Given the description of an element on the screen output the (x, y) to click on. 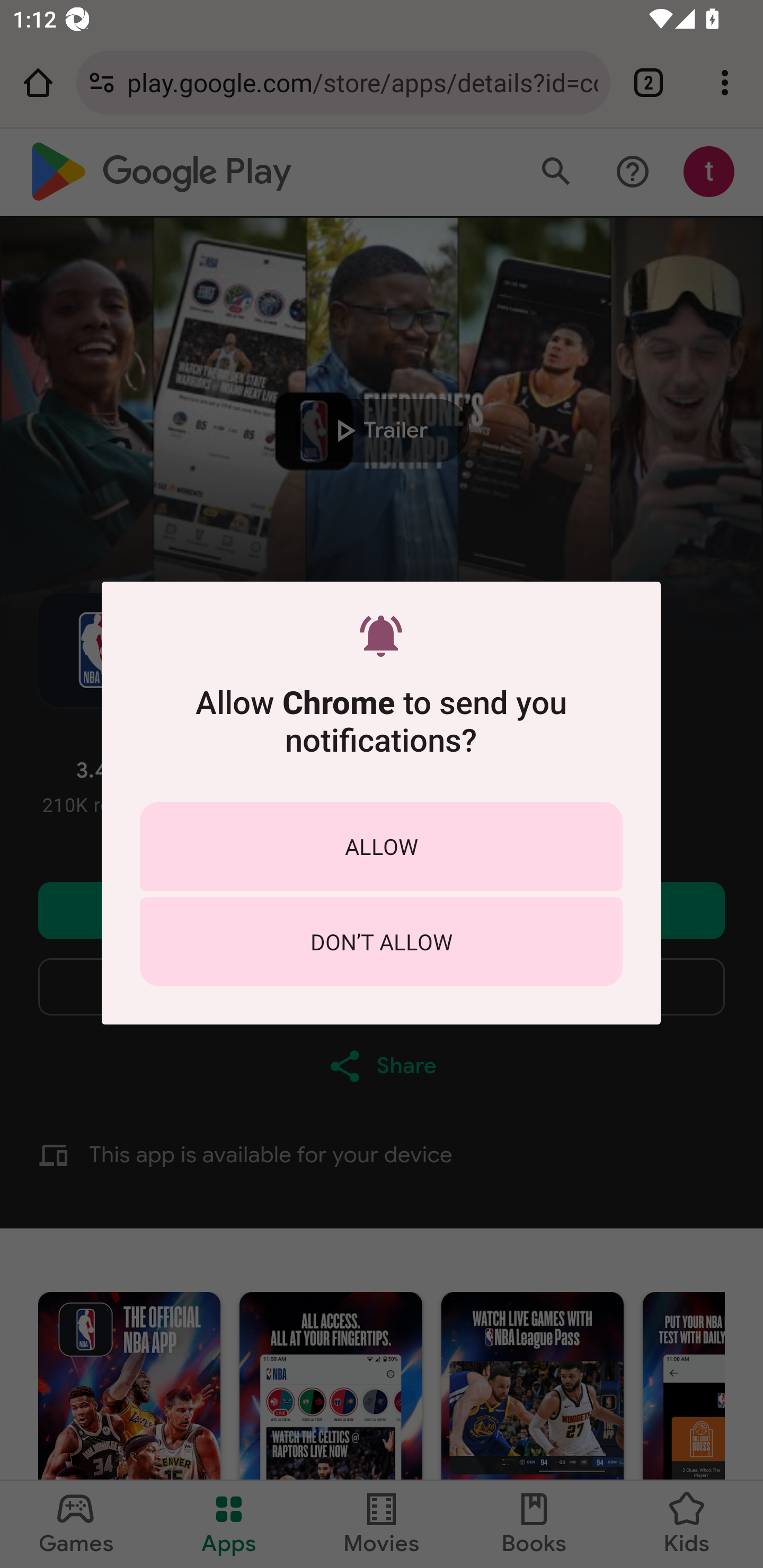
ALLOW (380, 845)
DON’T ALLOW (380, 941)
